Given the description of an element on the screen output the (x, y) to click on. 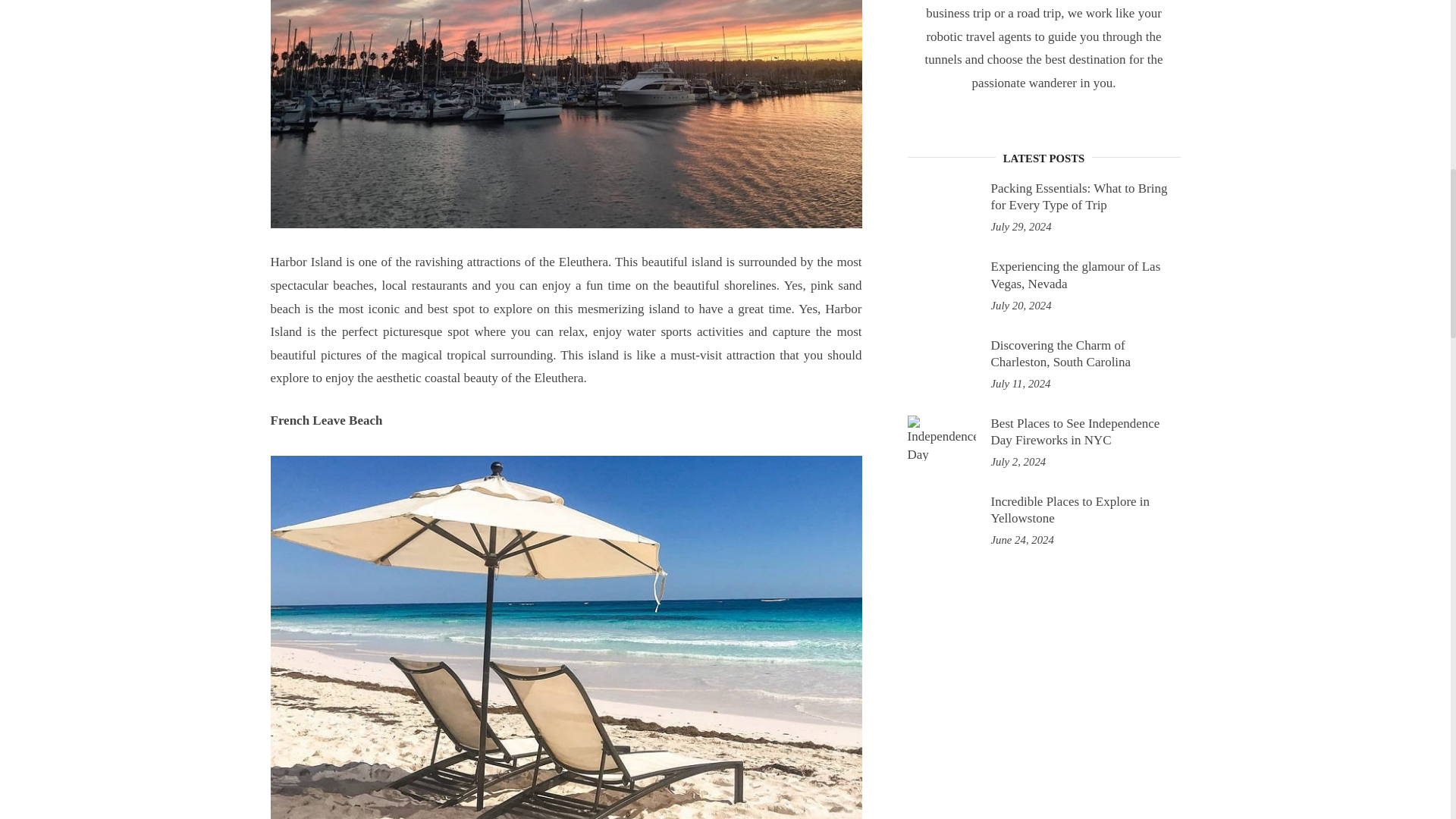
Permalink to Incredible Places to Explore in Yellowstone (1070, 509)
Packing Essentials: What to Bring for Every Type of Trip (941, 203)
Packing Essentials: What to Bring for Every Type of Trip (1078, 196)
Permalink to Experiencing the glamour of Las Vegas, Nevada (1075, 274)
Experiencing the glamour of Las Vegas, Nevada (1075, 274)
Best Places to See Independence Day Fireworks in NYC (941, 438)
Incredible Places to Explore in Yellowstone (941, 515)
Discovering the Charm of Charleston, South Carolina (1060, 353)
Experiencing the glamour of Las Vegas, Nevada (941, 280)
Discovering the Charm of Charleston, South Carolina (941, 360)
Best Places to See Independence Day Fireworks in NYC (1074, 431)
